Given the description of an element on the screen output the (x, y) to click on. 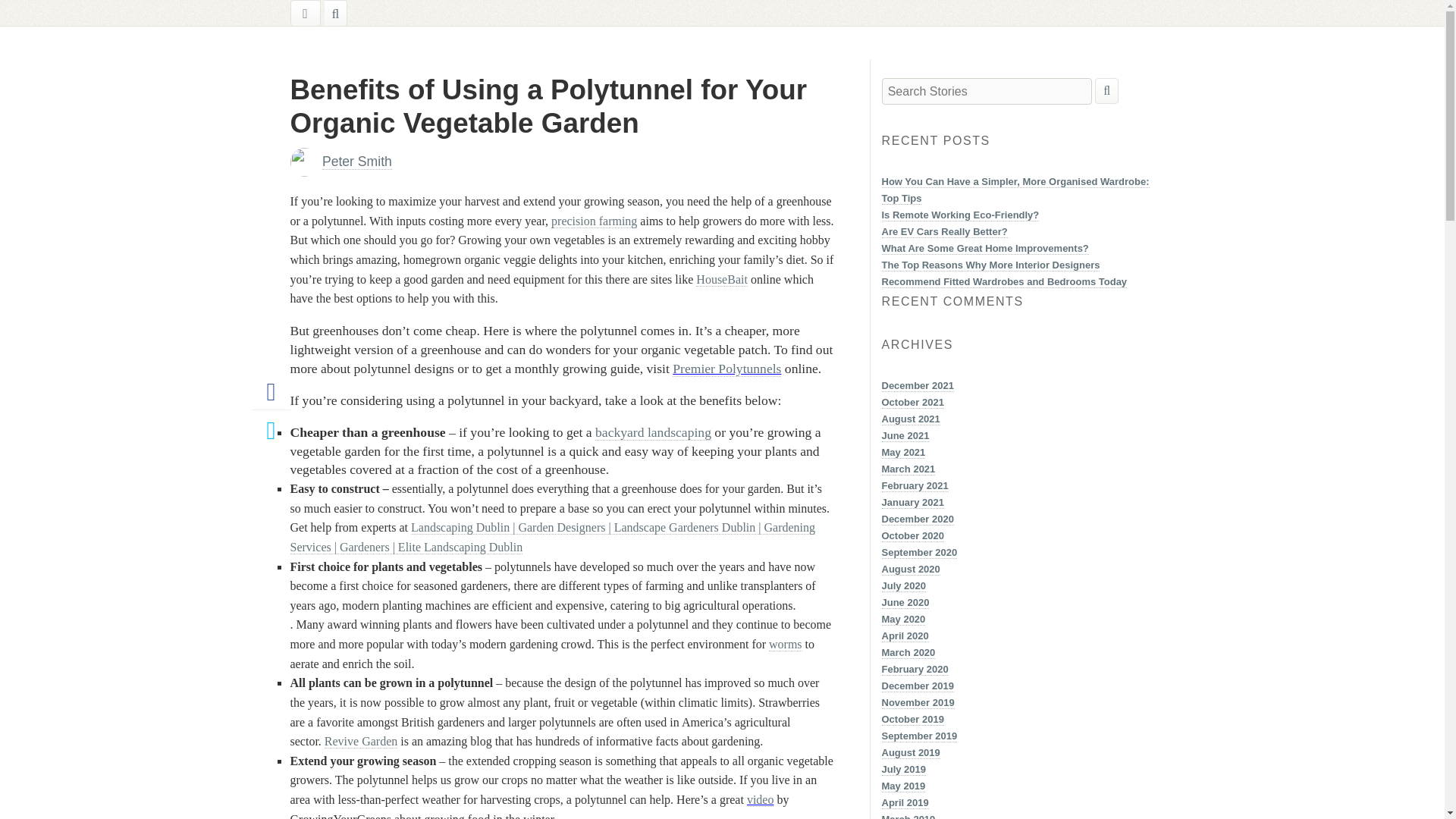
precision farming (594, 221)
Peter Smith (356, 161)
HouseBait (721, 279)
video (760, 799)
Revive Garden (360, 741)
Premier Polytunnels (726, 368)
worms (785, 644)
backyard landscaping (653, 432)
